Given the description of an element on the screen output the (x, y) to click on. 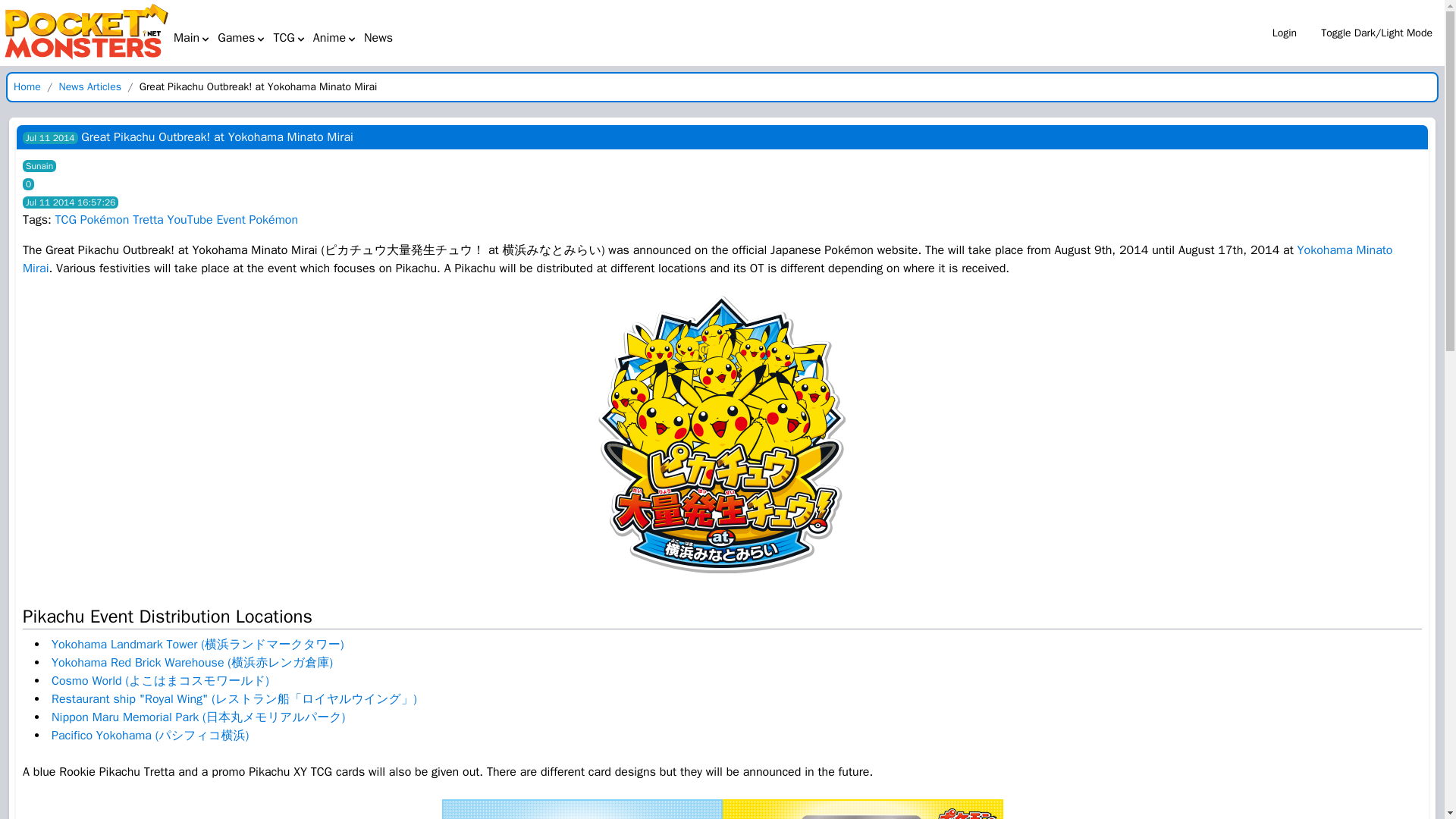
TCG (288, 37)
Login (1284, 32)
Games (241, 37)
Main (192, 37)
News (378, 37)
News (378, 37)
Anime (335, 37)
